Given the description of an element on the screen output the (x, y) to click on. 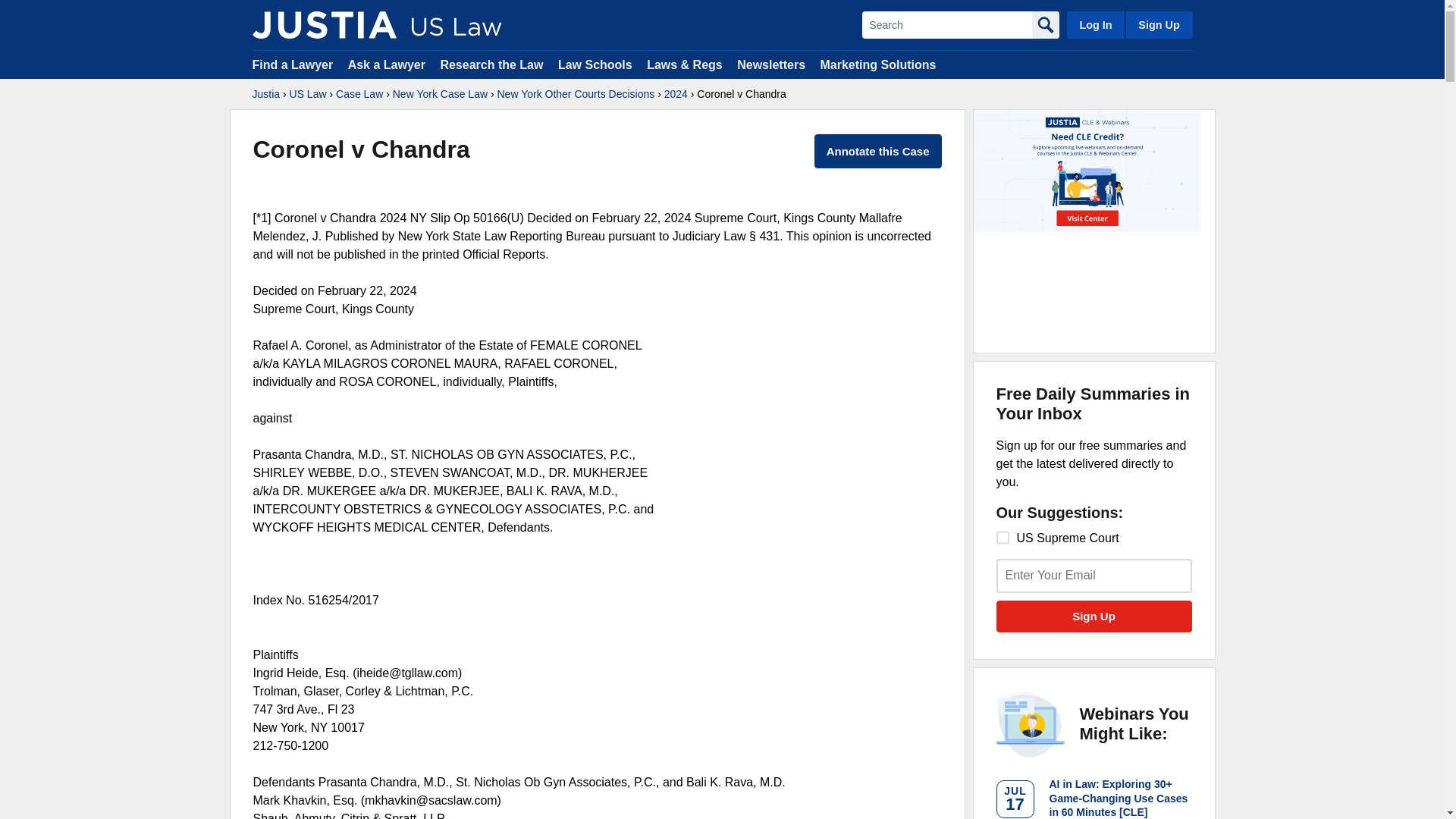
Enter email (1093, 575)
Find a Lawyer (292, 64)
Sign Up (1093, 616)
New York Case Law (440, 93)
Sign Up (1093, 616)
Log In (1094, 24)
Case Law (359, 93)
14 (1002, 536)
Ask a Lawyer (388, 64)
Newsletters (770, 64)
Marketing Solutions (877, 64)
Annotate this Case (877, 151)
US Law (307, 93)
Search (945, 24)
New York Other Courts Decisions (574, 93)
